Given the description of an element on the screen output the (x, y) to click on. 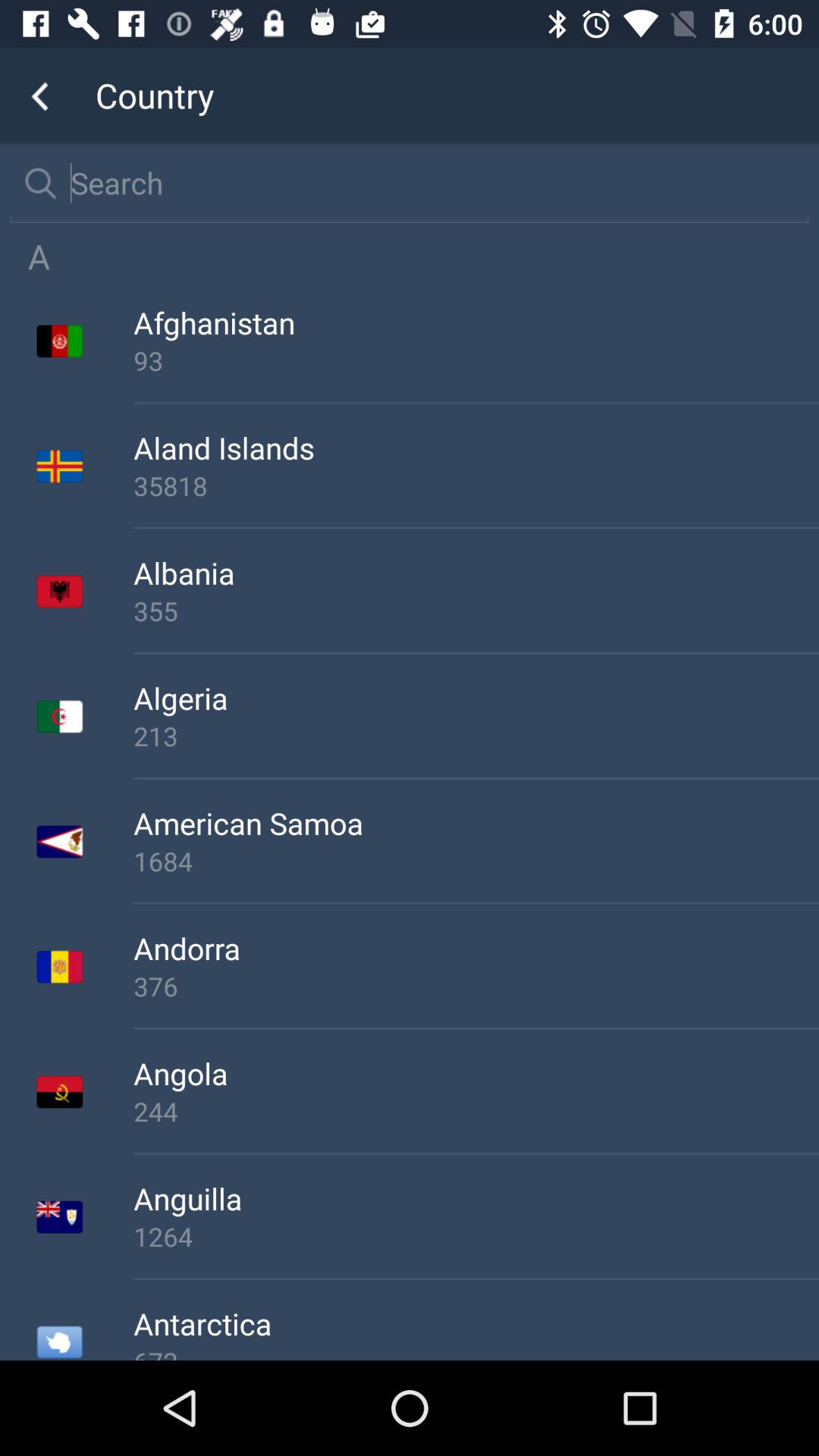
open 35818 item (476, 485)
